Given the description of an element on the screen output the (x, y) to click on. 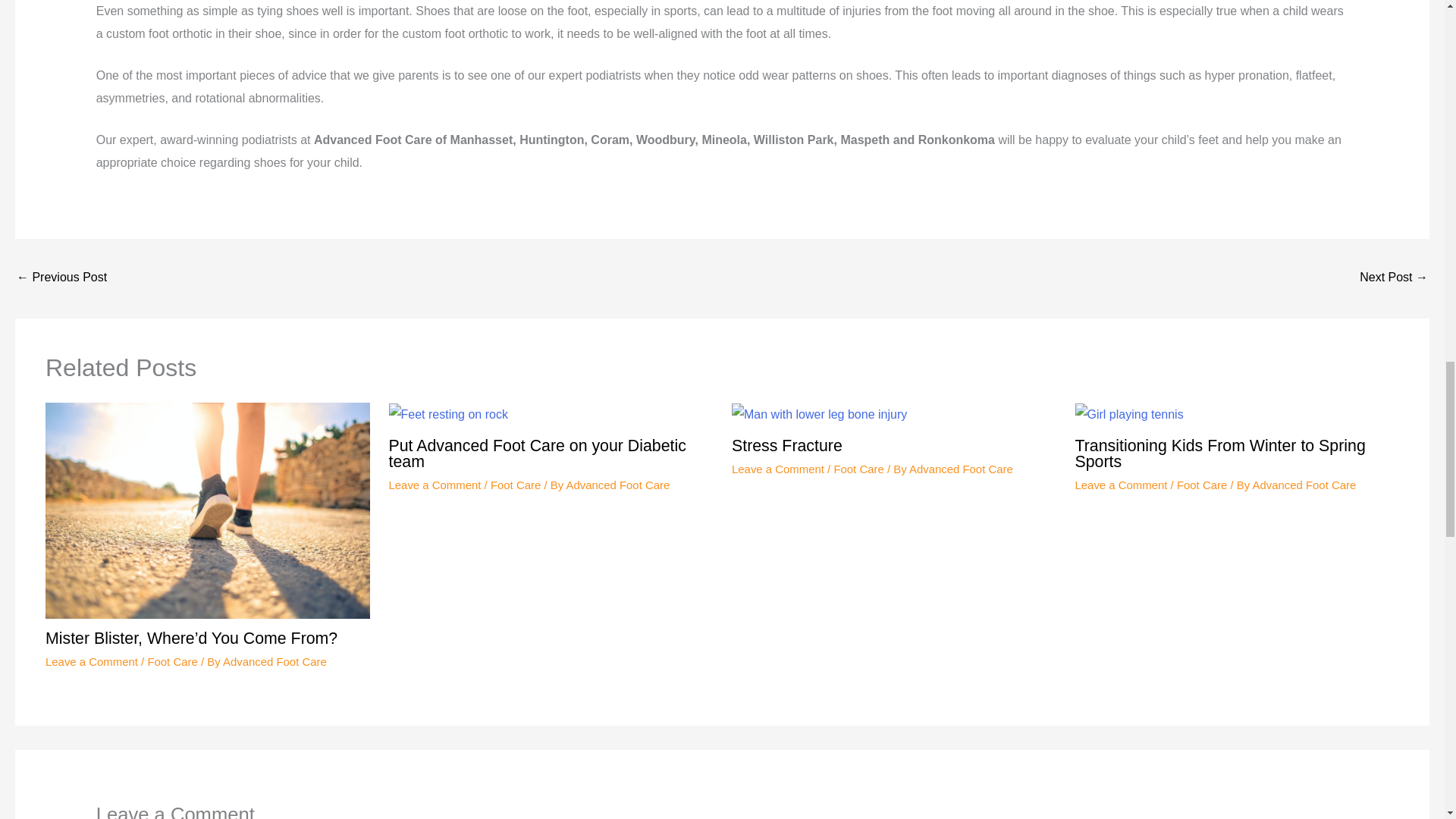
View all posts by Advanced Foot Care (617, 484)
View all posts by Advanced Foot Care (960, 468)
View all posts by Advanced Foot Care (274, 661)
View all posts by Advanced Foot Care (1303, 484)
Diabetes and Summer Foot Problems (1393, 278)
